Given the description of an element on the screen output the (x, y) to click on. 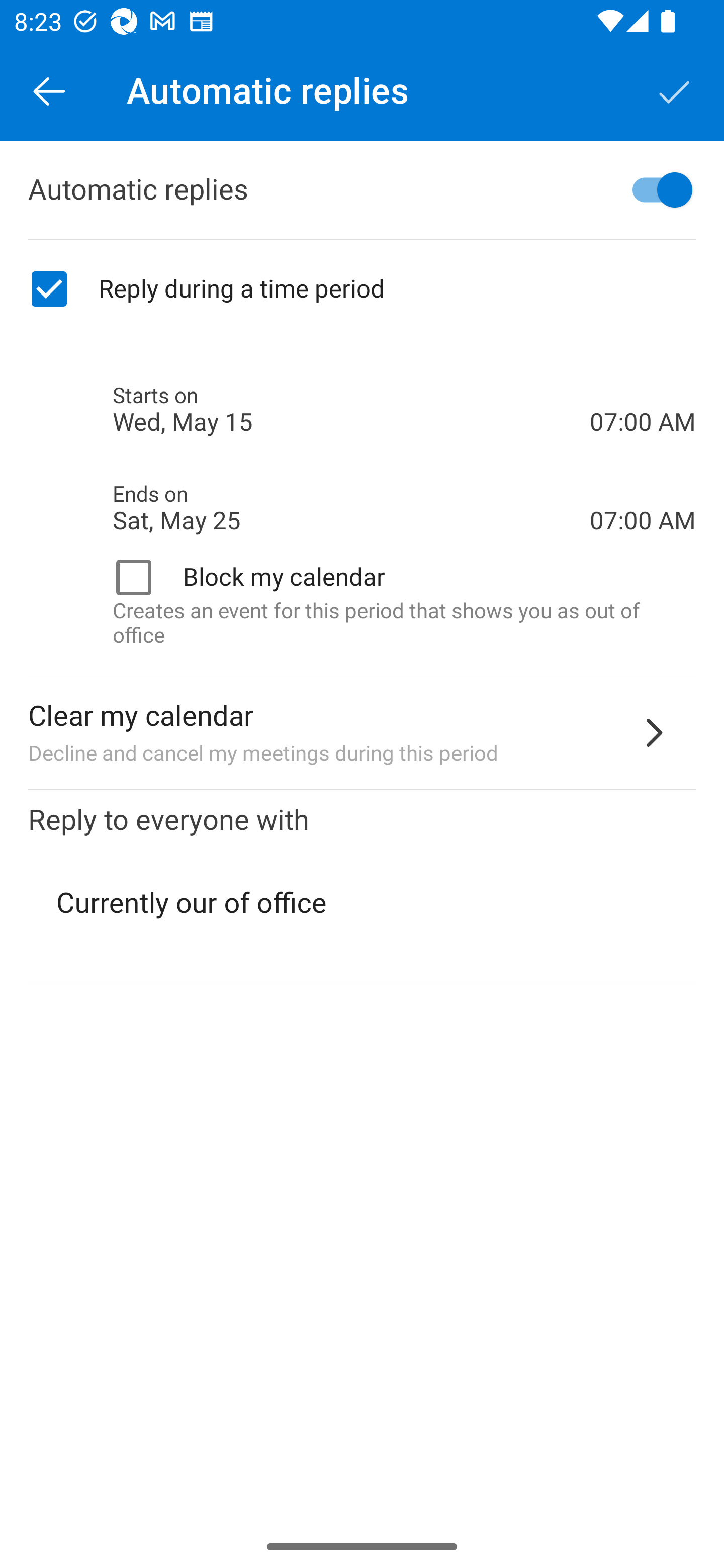
Back (49, 90)
Save (674, 90)
Automatic replies (362, 190)
Reply during a time period (362, 288)
07:00 AM (642, 387)
Starts on Wed, May 15 (351, 409)
07:00 AM (642, 485)
Ends on Sat, May 25 (351, 507)
Currently our of office (363, 902)
